Given the description of an element on the screen output the (x, y) to click on. 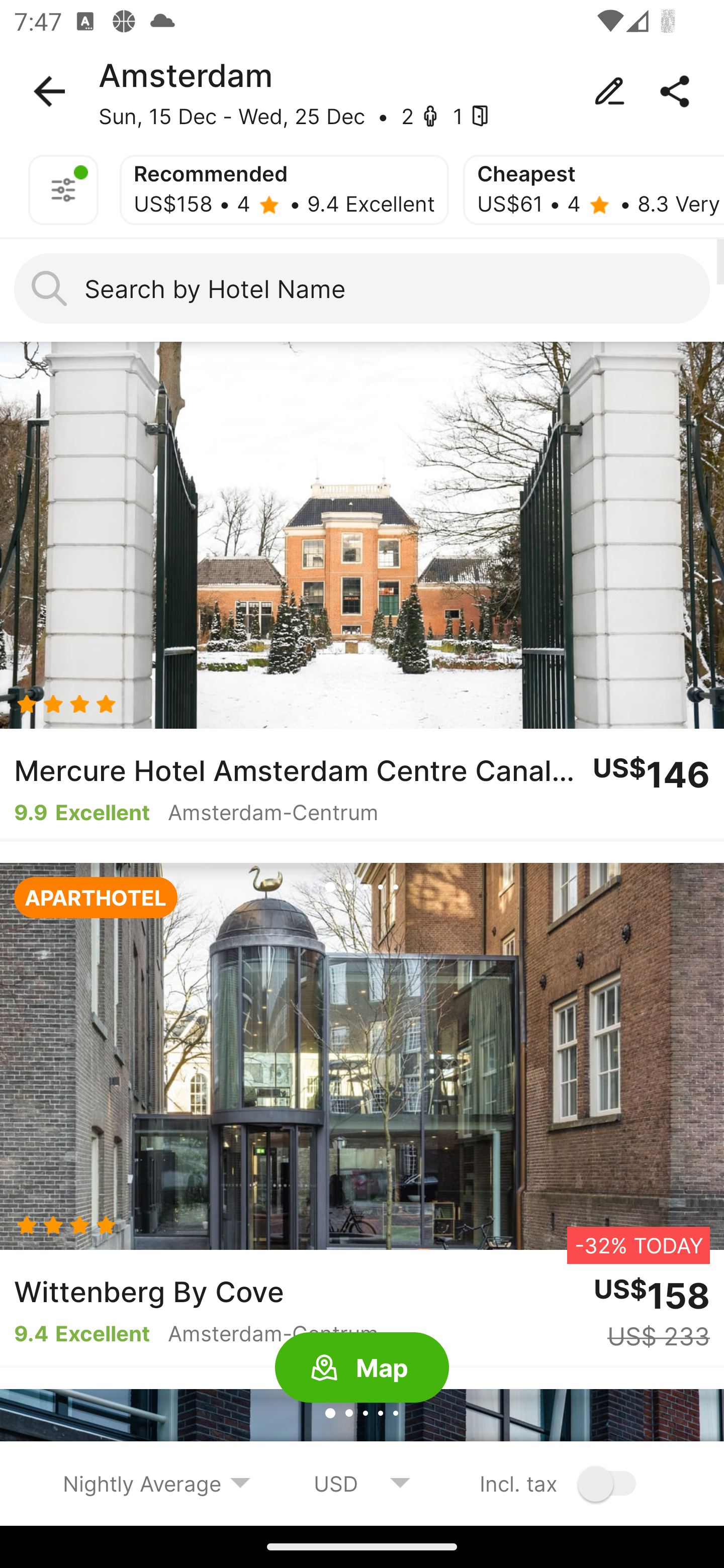
Amsterdam Sun, 15 Dec - Wed, 25 Dec  •  2 -  1 - (361, 91)
Recommended  US$158  • 4 - • 9.4 Excellent (283, 190)
Cheapest US$61  • 4 - • 8.3 Very Good (593, 190)
Search by Hotel Name  (361, 288)
Map  (361, 1367)
Nightly Average (156, 1482)
USD (361, 1482)
